Given the description of an element on the screen output the (x, y) to click on. 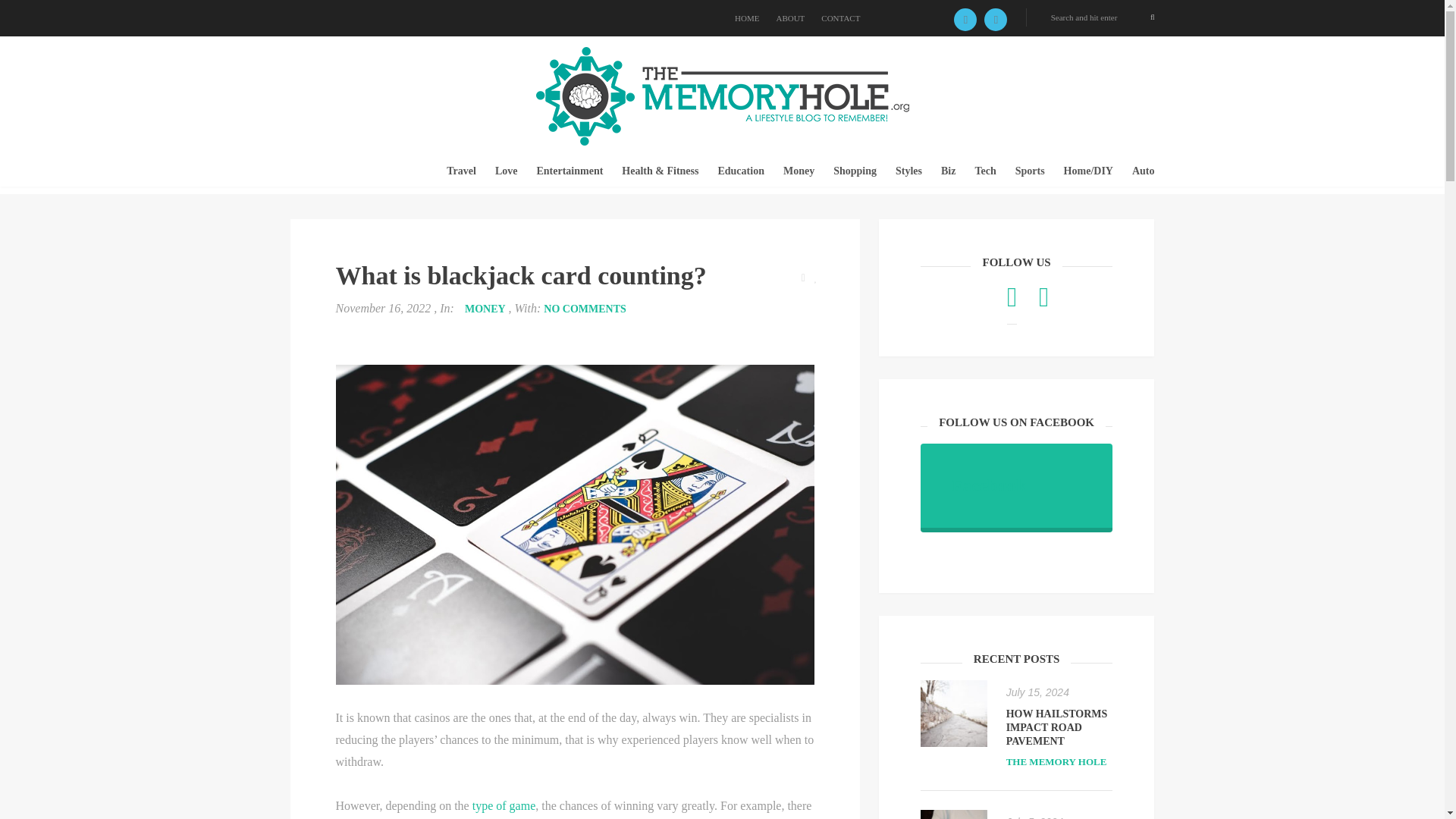
NO COMMENTS (584, 308)
Money (798, 170)
Sports (1029, 170)
Tech (984, 170)
CONTACT (840, 18)
Travel (461, 170)
type of game (503, 805)
Entertainment (568, 170)
Auto (1143, 170)
MONEY (484, 308)
Shopping (854, 170)
Education (739, 170)
Styles (908, 170)
Love (506, 170)
